Given the description of an element on the screen output the (x, y) to click on. 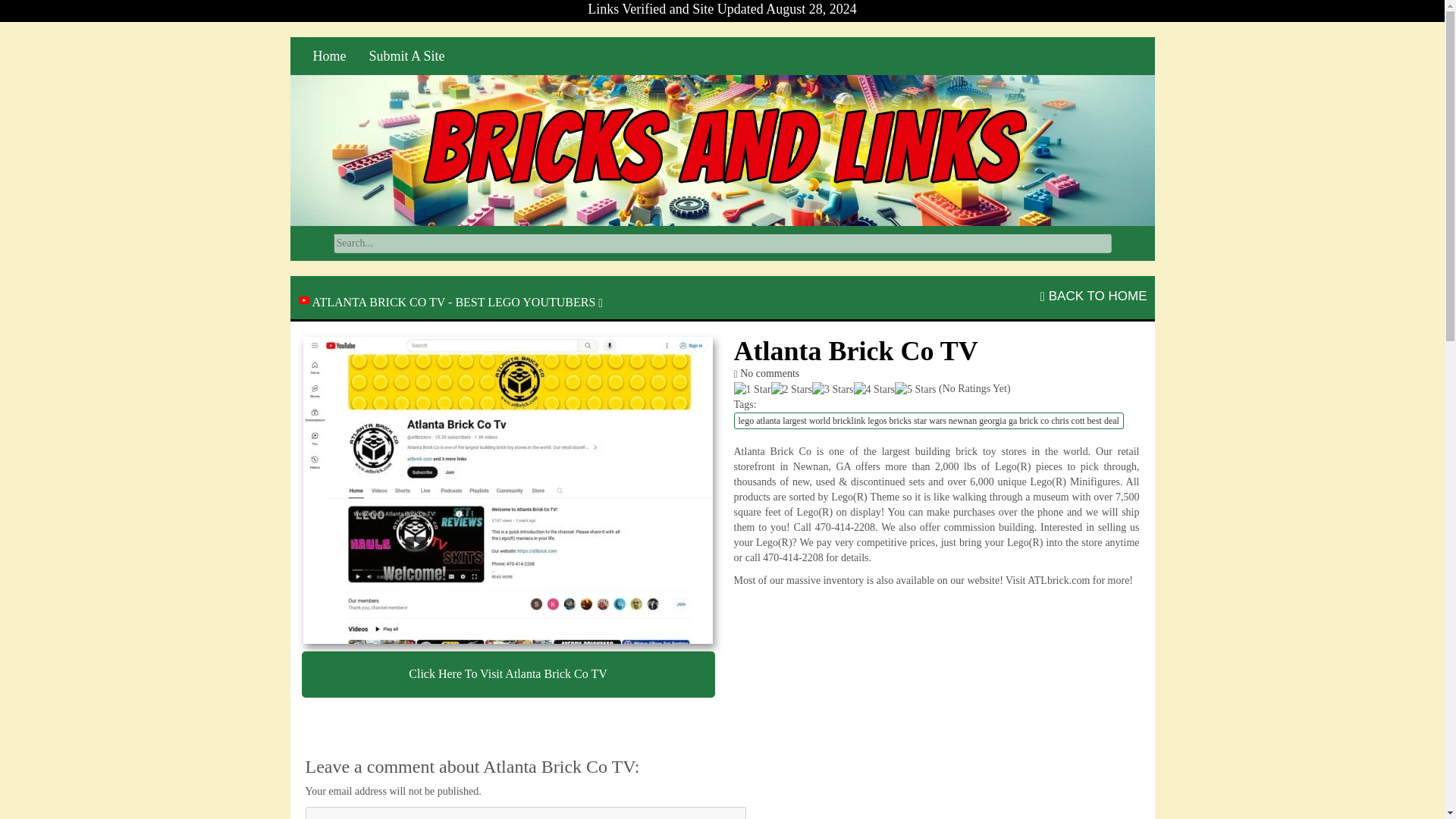
5 Stars (915, 389)
Atlanta Brick Co TV (507, 489)
Home (329, 55)
Submit A Site (407, 55)
3 Stars (832, 389)
2 Stars (791, 389)
Click Here To Visit Atlanta Brick Co TV (507, 674)
1 Star (752, 389)
4 Stars (874, 389)
